Given the description of an element on the screen output the (x, y) to click on. 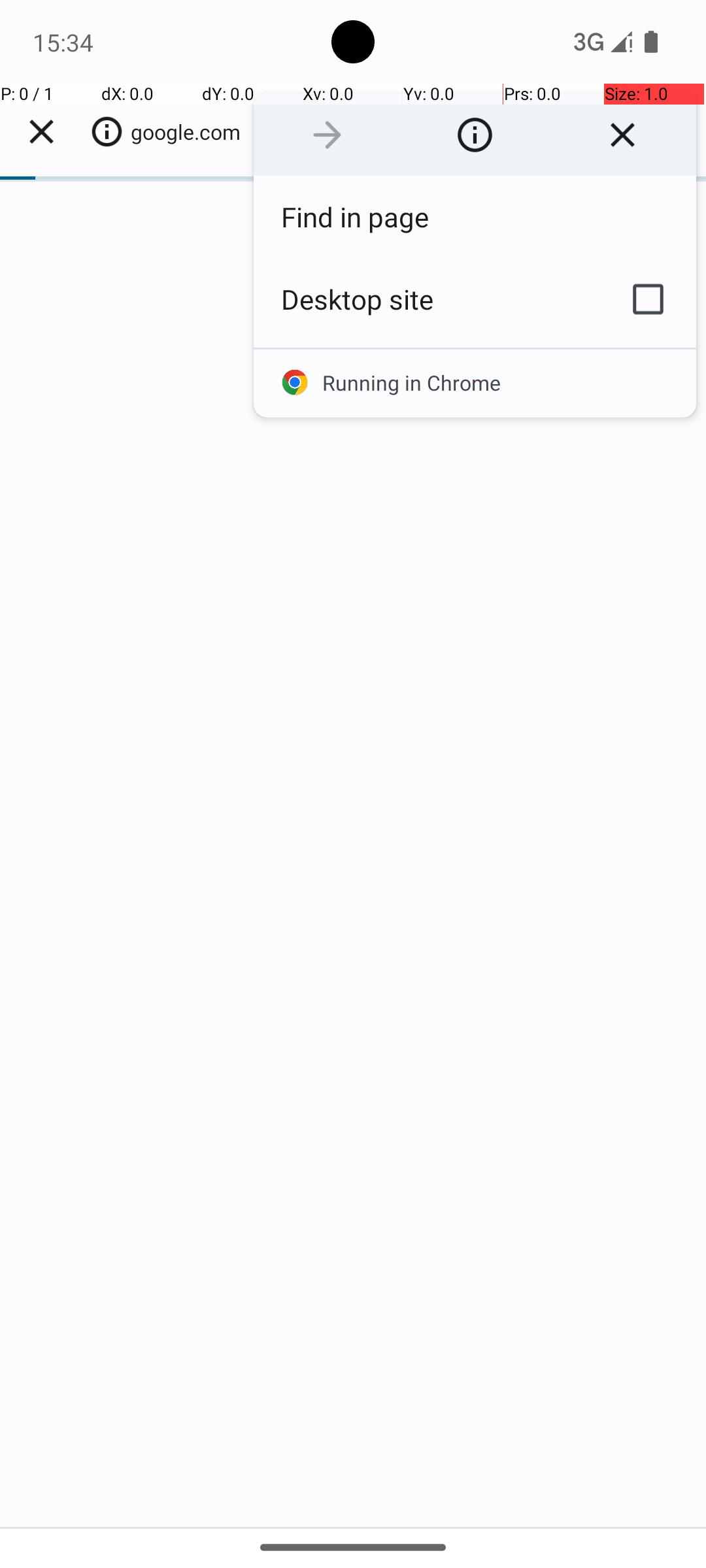
Running in Chrome Element type: android.widget.TextView (474, 382)
Go forward Element type: android.widget.ImageButton (326, 134)
View site information Element type: android.widget.ImageButton (474, 134)
Stop refreshing Element type: android.widget.ImageButton (622, 134)
Find in page Element type: android.widget.TextView (474, 216)
Desktop site Element type: android.widget.TextView (426, 299)
